Given the description of an element on the screen output the (x, y) to click on. 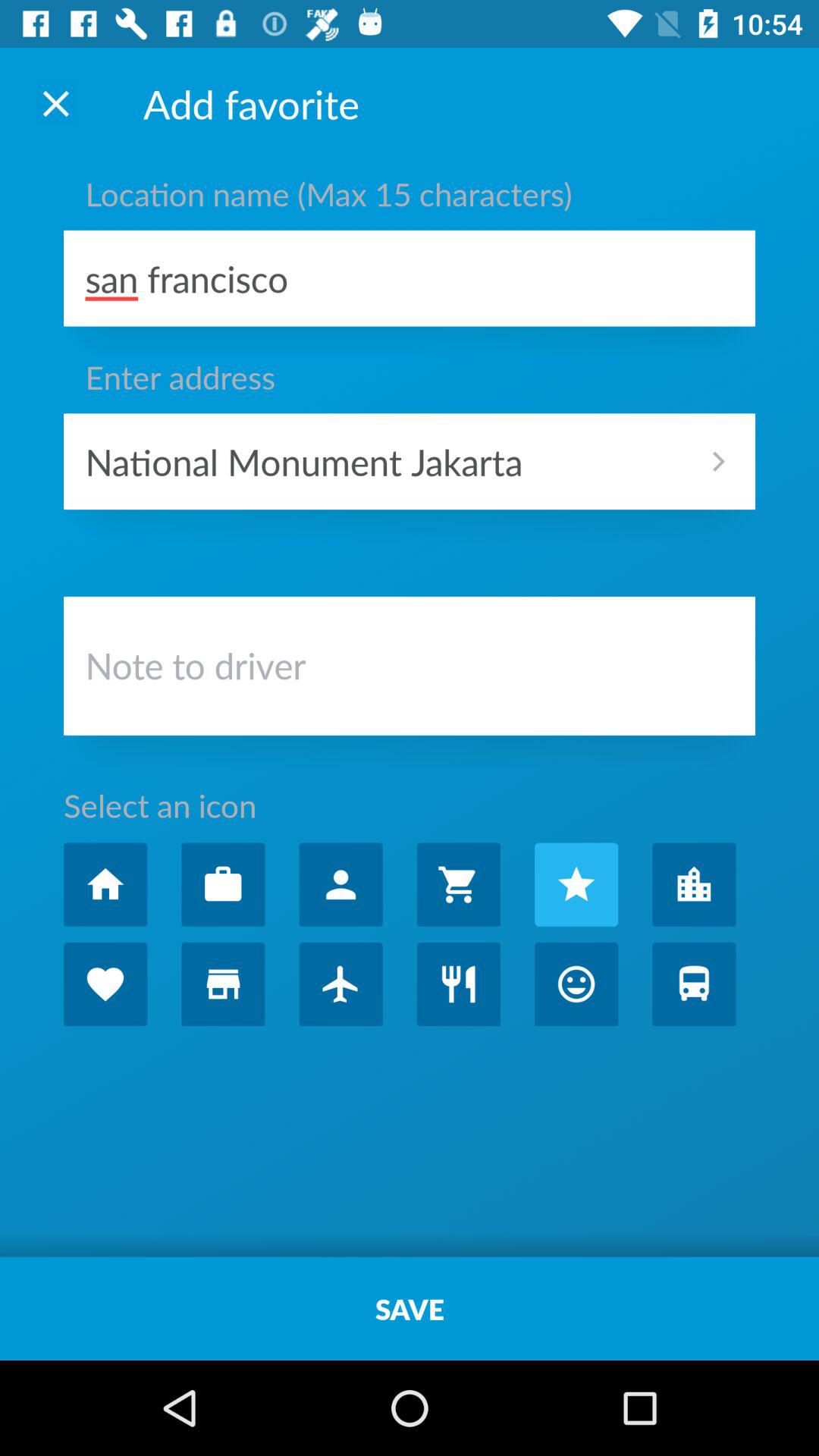
write notes (409, 669)
